Given the description of an element on the screen output the (x, y) to click on. 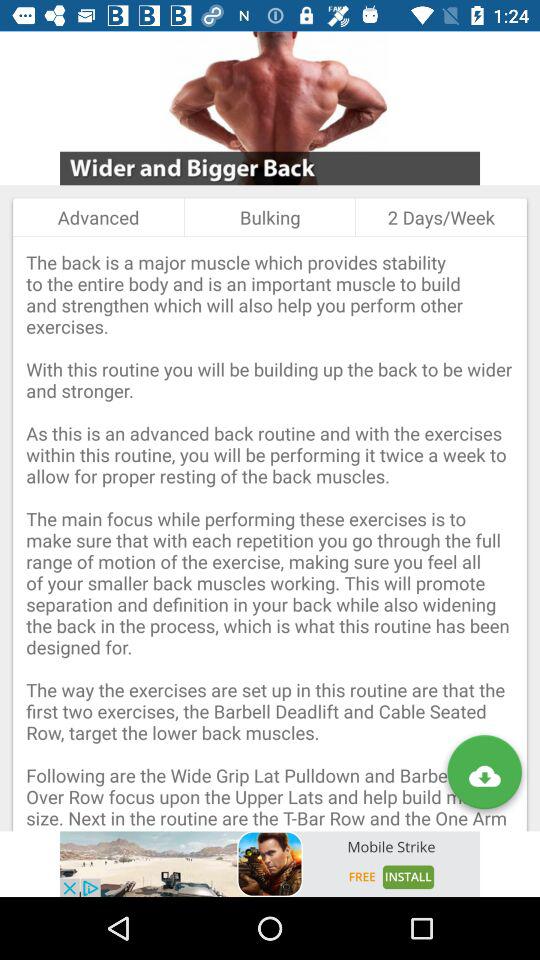
launch the item next to bulking item (98, 217)
